Given the description of an element on the screen output the (x, y) to click on. 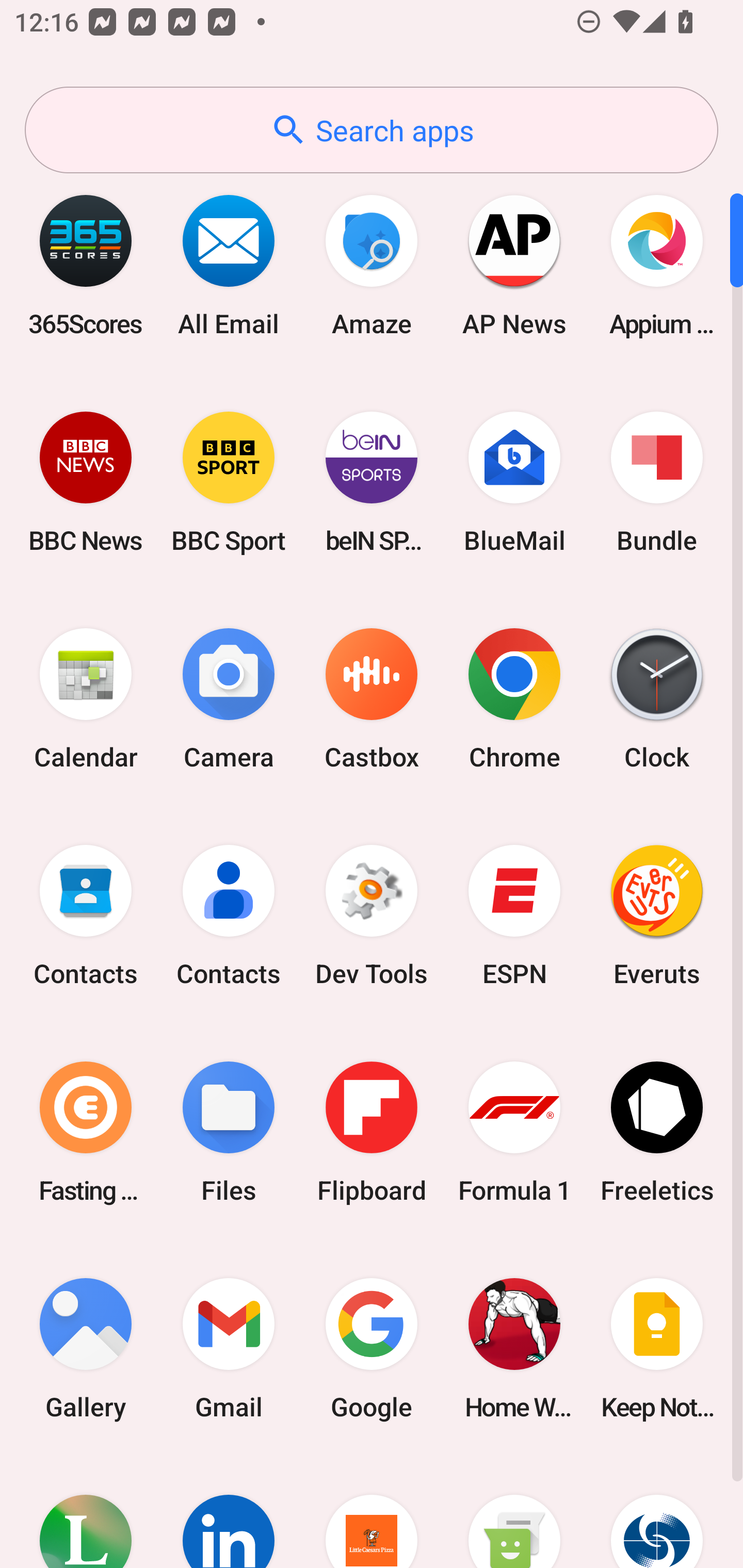
  Search apps (371, 130)
365Scores (85, 264)
All Email (228, 264)
Amaze (371, 264)
AP News (514, 264)
Appium Settings (656, 264)
BBC News (85, 482)
BBC Sport (228, 482)
beIN SPORTS (371, 482)
BlueMail (514, 482)
Bundle (656, 482)
Calendar (85, 699)
Camera (228, 699)
Castbox (371, 699)
Chrome (514, 699)
Clock (656, 699)
Contacts (85, 915)
Contacts (228, 915)
Dev Tools (371, 915)
ESPN (514, 915)
Everuts (656, 915)
Fasting Coach (85, 1131)
Files (228, 1131)
Flipboard (371, 1131)
Formula 1 (514, 1131)
Freeletics (656, 1131)
Gallery (85, 1348)
Gmail (228, 1348)
Google (371, 1348)
Home Workout (514, 1348)
Keep Notes (656, 1348)
